Given the description of an element on the screen output the (x, y) to click on. 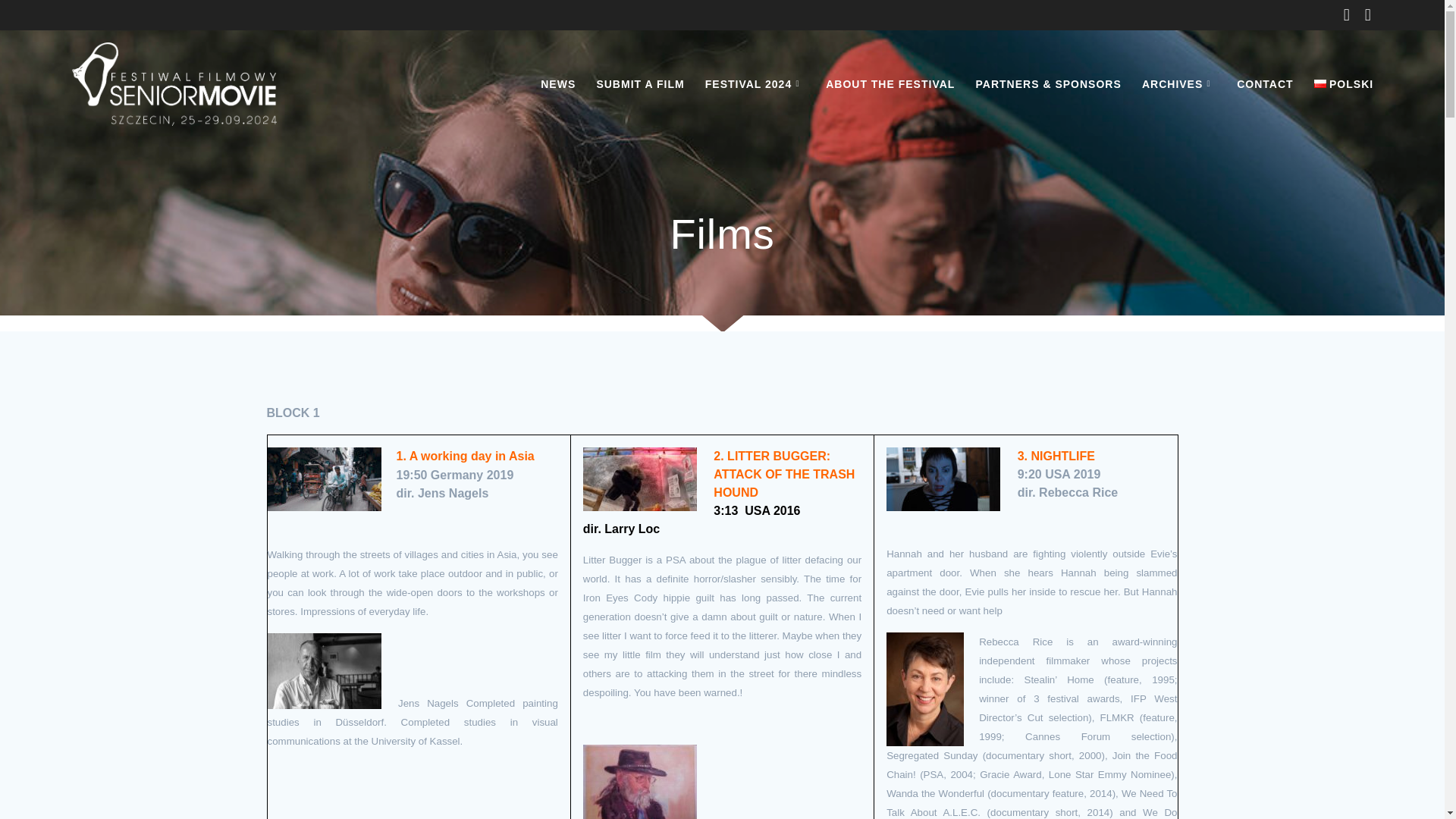
SUBMIT A FILM (639, 84)
FESTIVAL 2024 (754, 84)
ARCHIVES (1178, 84)
CONTACT (1264, 84)
NEWS (557, 84)
ABOUT THE FESTIVAL (890, 84)
POLSKI (1343, 84)
